Given the description of an element on the screen output the (x, y) to click on. 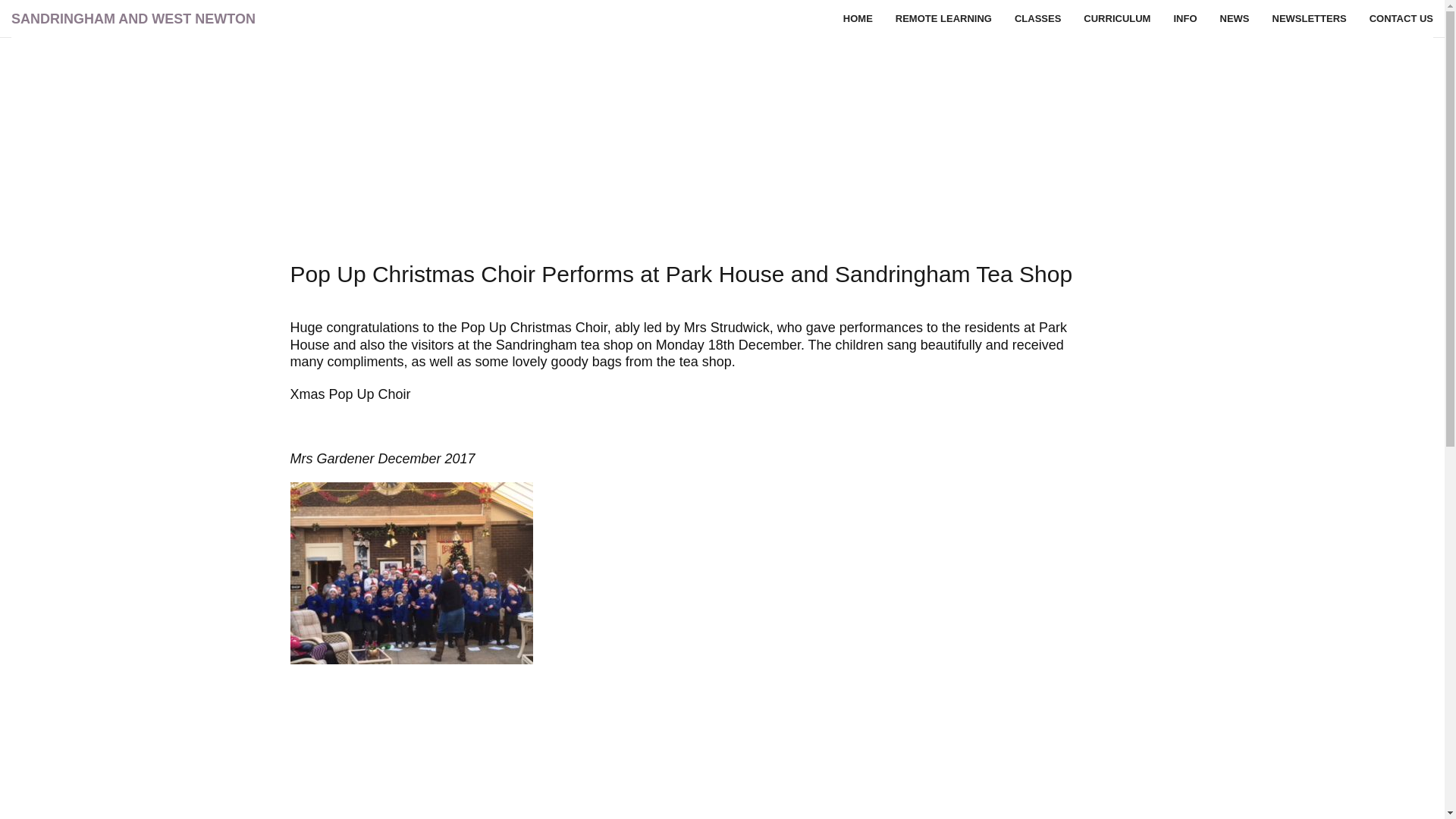
REMOTE LEARNING (943, 18)
HOME (857, 18)
CURRICULUM (1116, 18)
NEWS (1234, 18)
CLASSES (1037, 18)
SANDRINGHAM AND WEST NEWTON (133, 18)
INFO (1184, 18)
SANDRINGHAM AND WEST NEWTON (133, 18)
NEWSLETTERS (1308, 18)
